Given the description of an element on the screen output the (x, y) to click on. 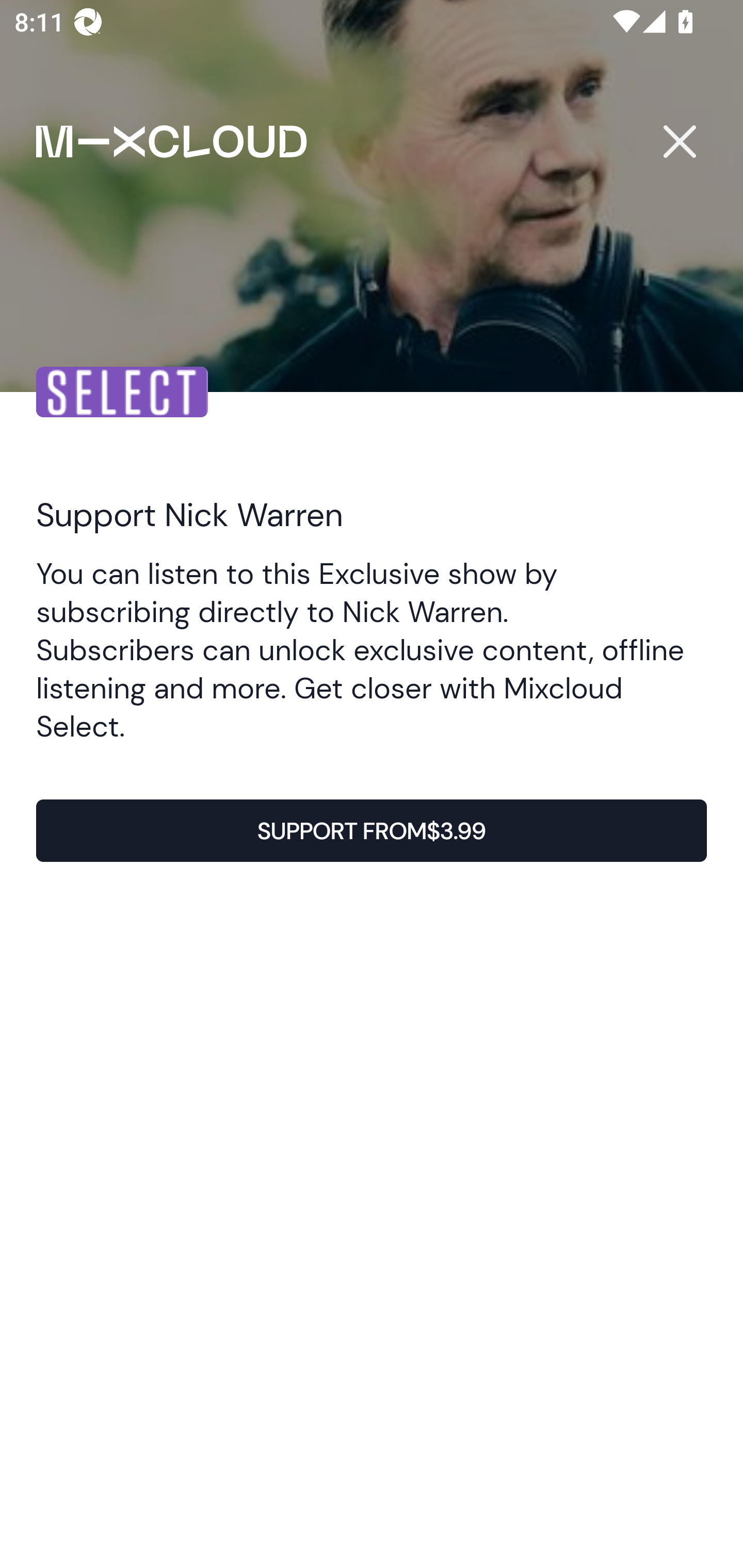
SUPPORT FROM$3.99 (371, 830)
